Given the description of an element on the screen output the (x, y) to click on. 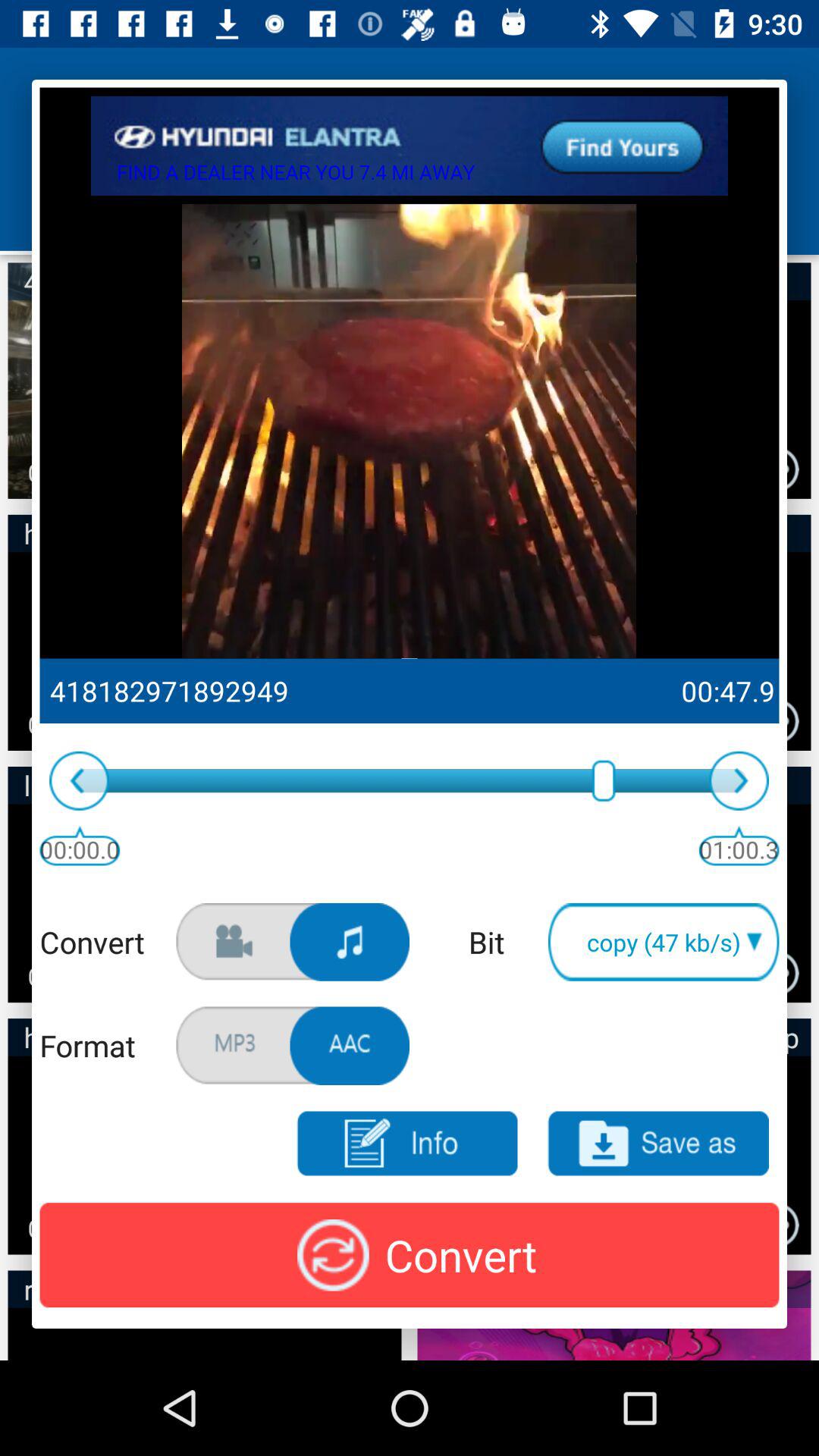
in app advertisement (409, 145)
